Given the description of an element on the screen output the (x, y) to click on. 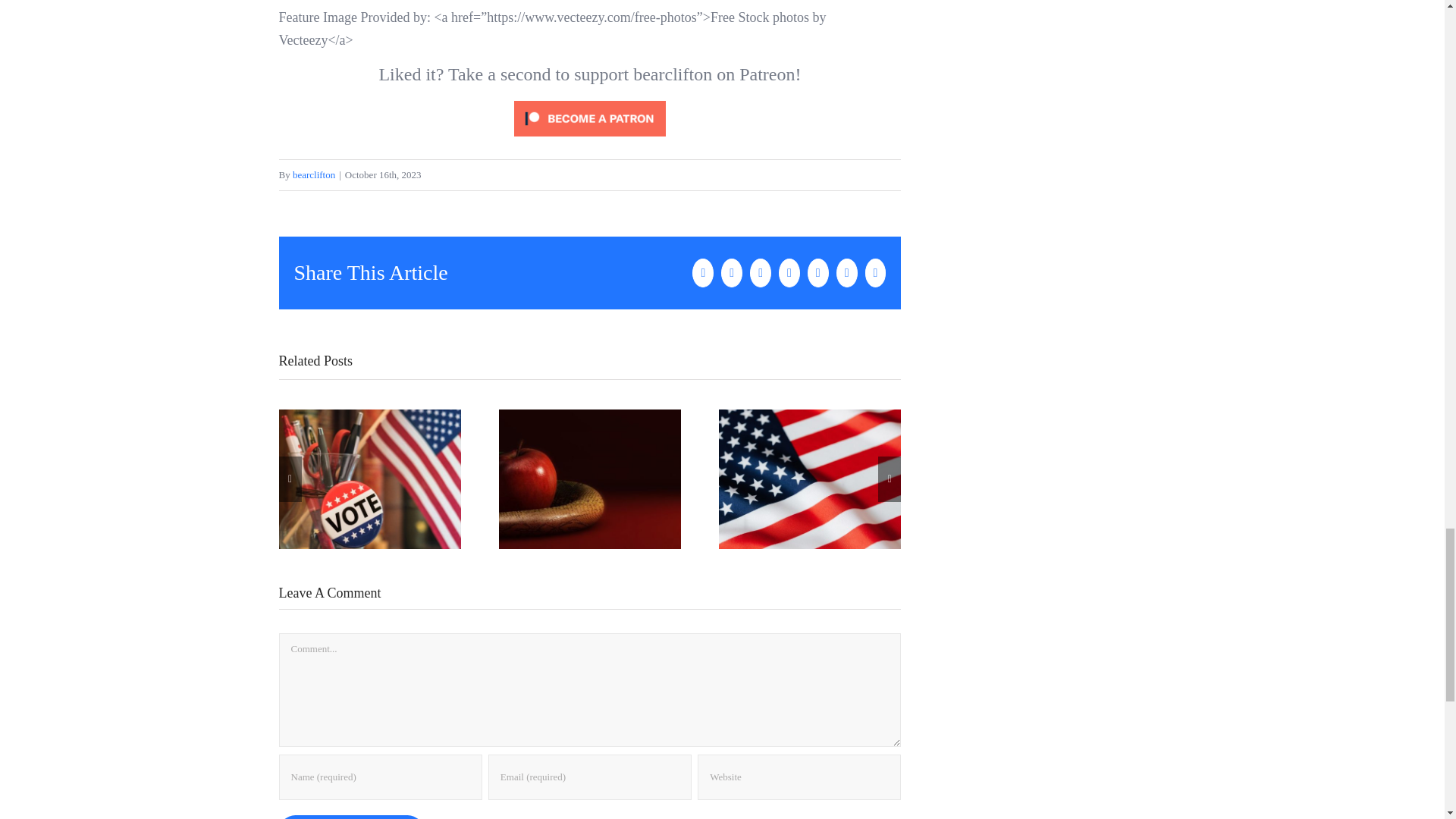
Post Comment (351, 816)
bearclifton (313, 174)
Post Comment (351, 816)
Posts by bearclifton (313, 174)
